Given the description of an element on the screen output the (x, y) to click on. 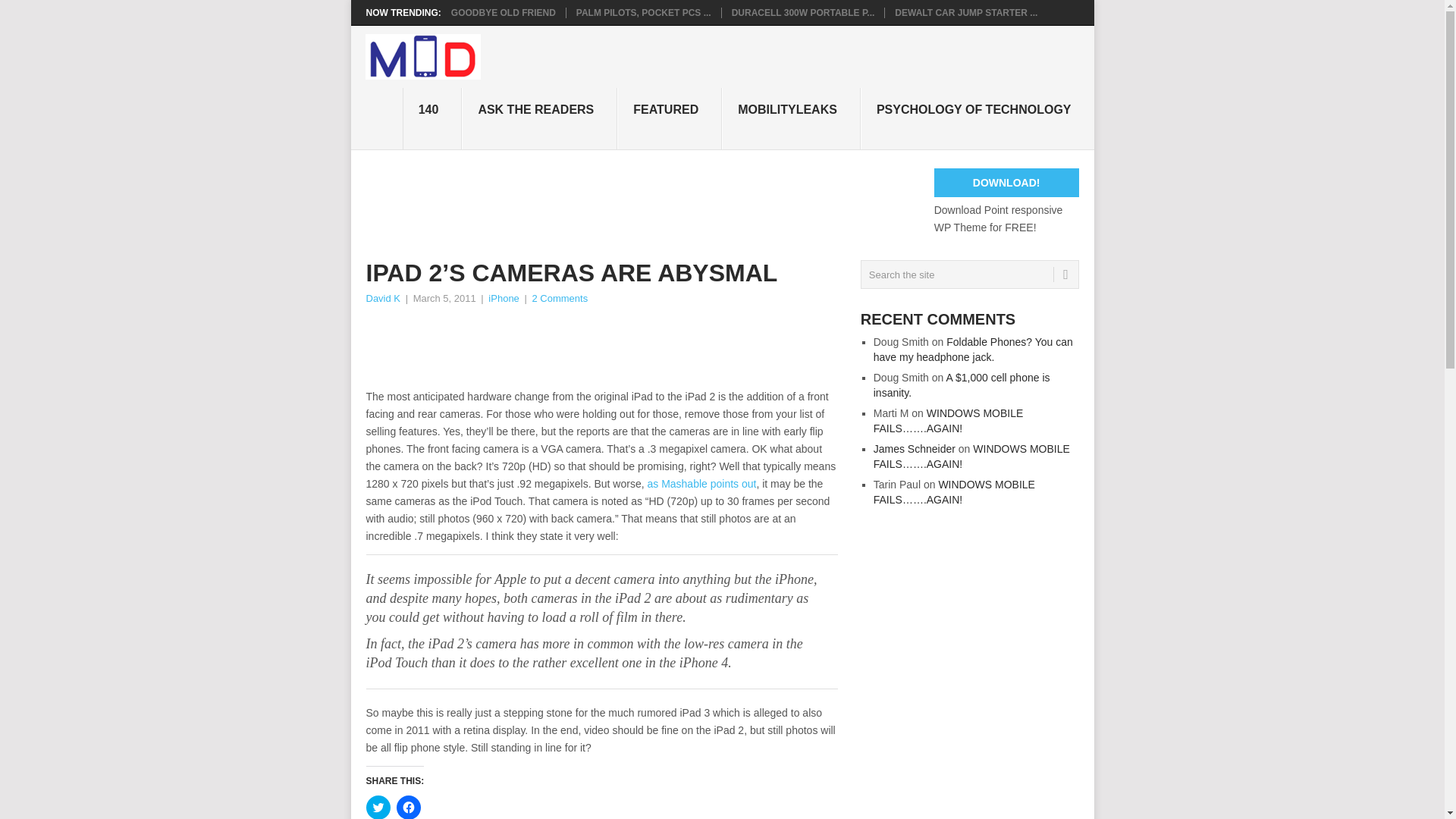
DeWalt Car Jump Starter Review (965, 12)
DURACELL 300W PORTABLE P... (803, 12)
David K (382, 297)
PSYCHOLOGY OF TECHNOLOGY (977, 118)
DEWALT CAR JUMP STARTER ... (965, 12)
Foldable Phones? You can have my headphone jack. (973, 349)
Palm Pilots, Pocket PCs and Boogie Boards (643, 12)
ASK THE READERS (539, 118)
Posts by David K (382, 297)
PALM PILOTS, POCKET PCS ... (643, 12)
